Given the description of an element on the screen output the (x, y) to click on. 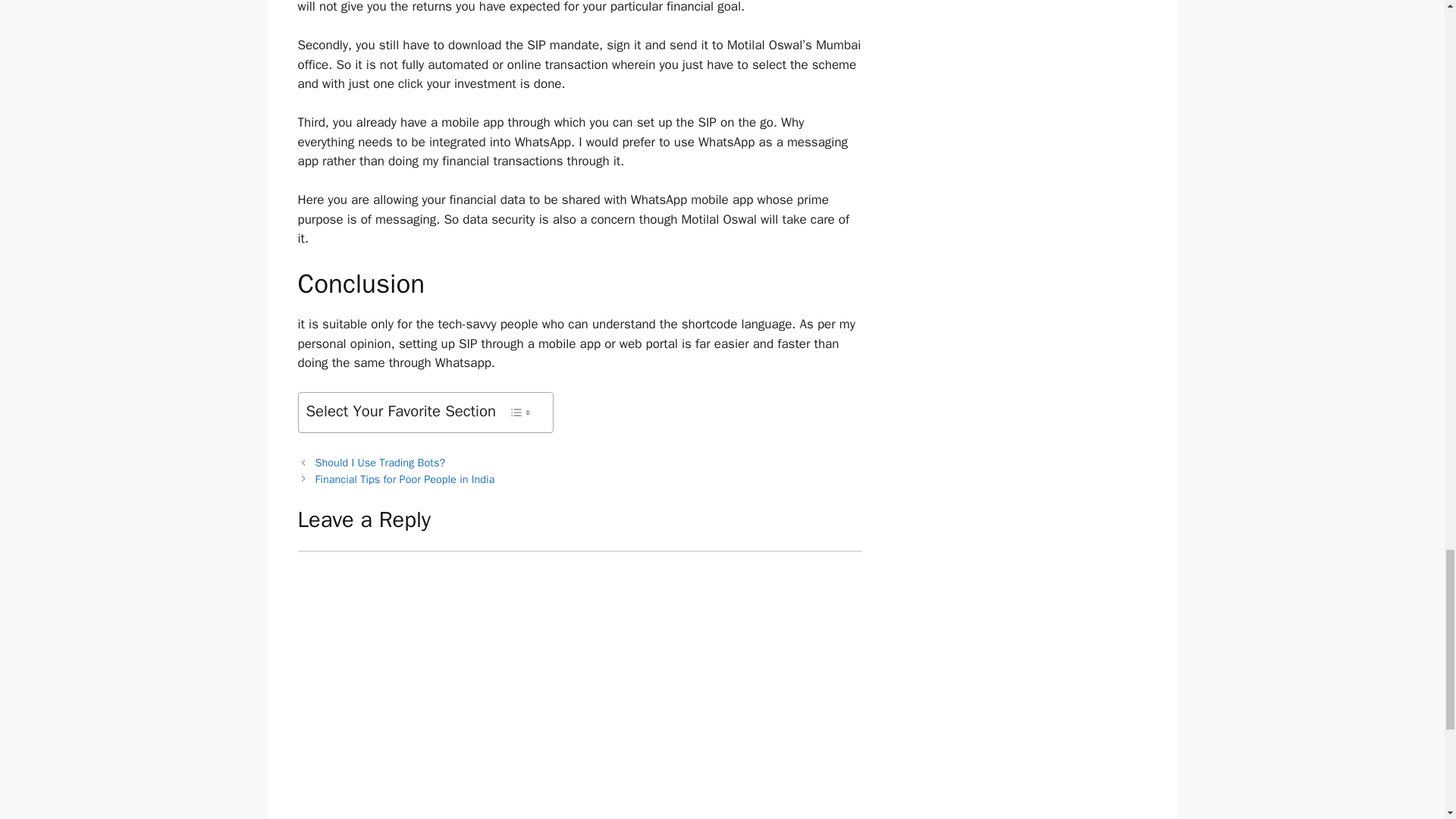
Should I Use Trading Bots? (380, 462)
Financial Tips for Poor People in India (405, 479)
